Given the description of an element on the screen output the (x, y) to click on. 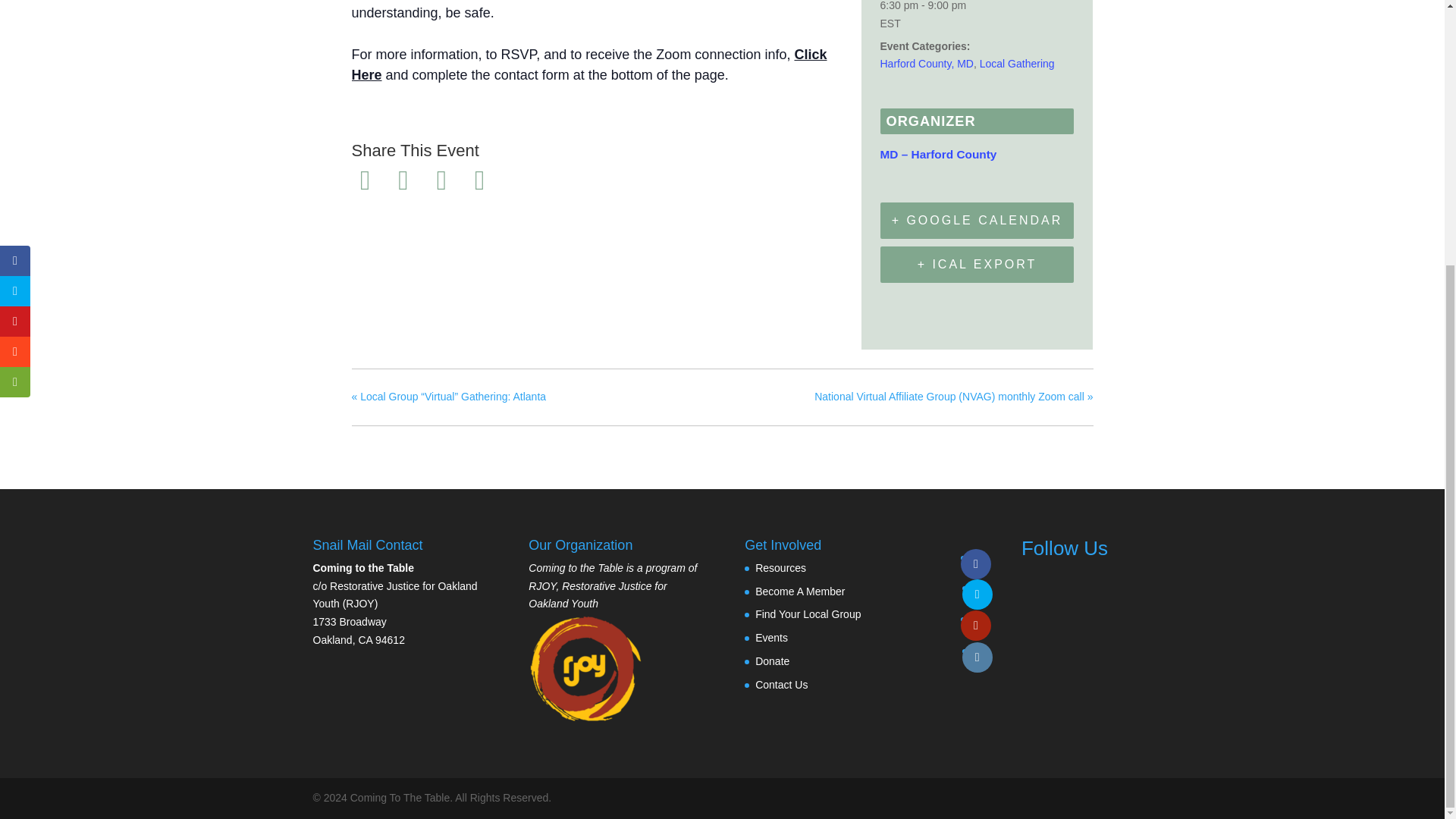
2026-06-04 (976, 16)
Click Here (589, 64)
Download .ics file (976, 264)
Facebook (368, 180)
Twitter (403, 180)
Add to Google Calendar (976, 220)
WhatsApp (478, 180)
Local Gathering (1016, 63)
Email (441, 180)
Harford County, MD (925, 63)
